Given the description of an element on the screen output the (x, y) to click on. 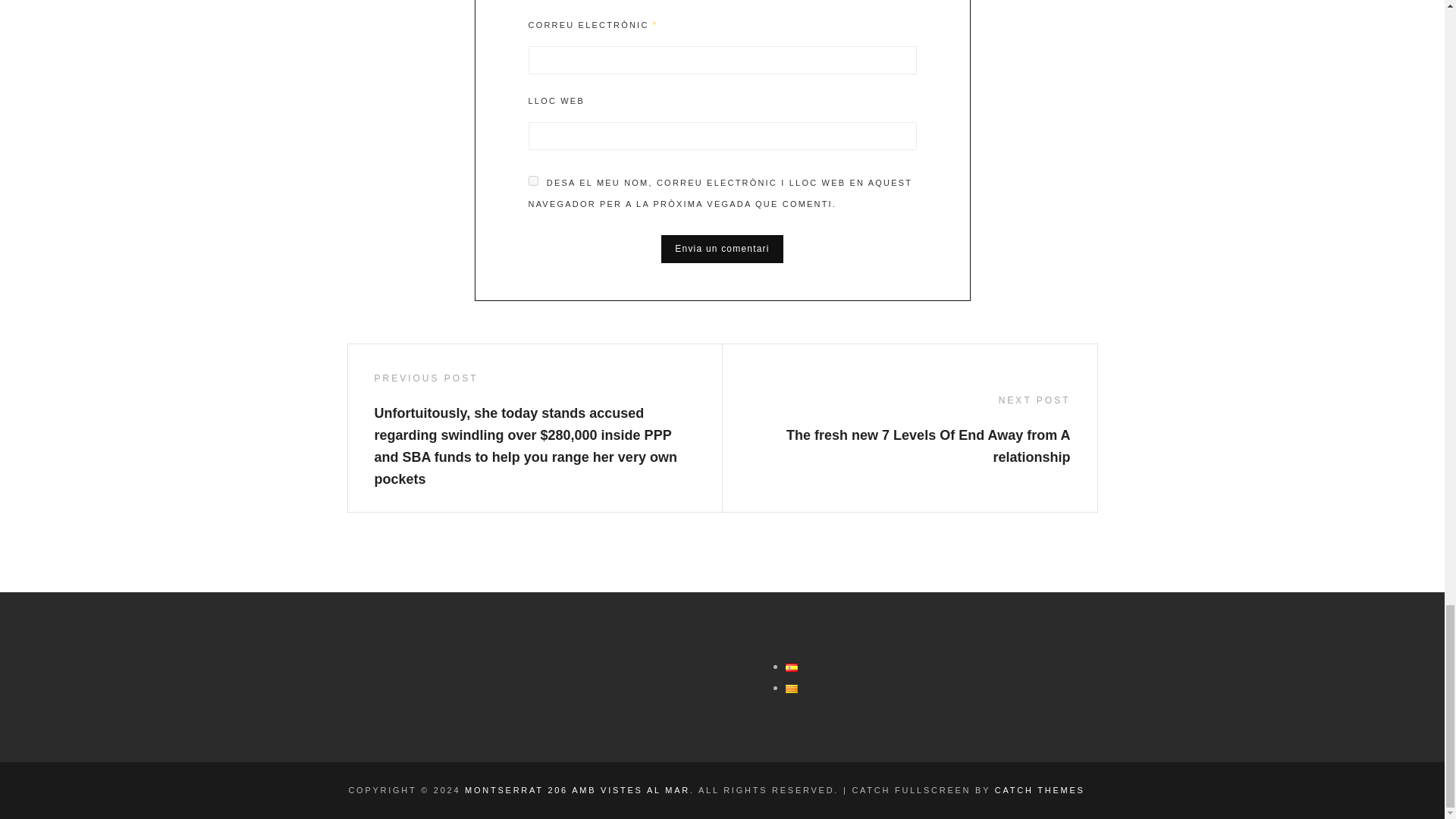
CATCH THEMES (1039, 789)
Envia un comentari (722, 248)
Envia un comentari (722, 248)
MONTSERRAT 206 AMB VISTES AL MAR (577, 789)
yes (532, 180)
